Given the description of an element on the screen output the (x, y) to click on. 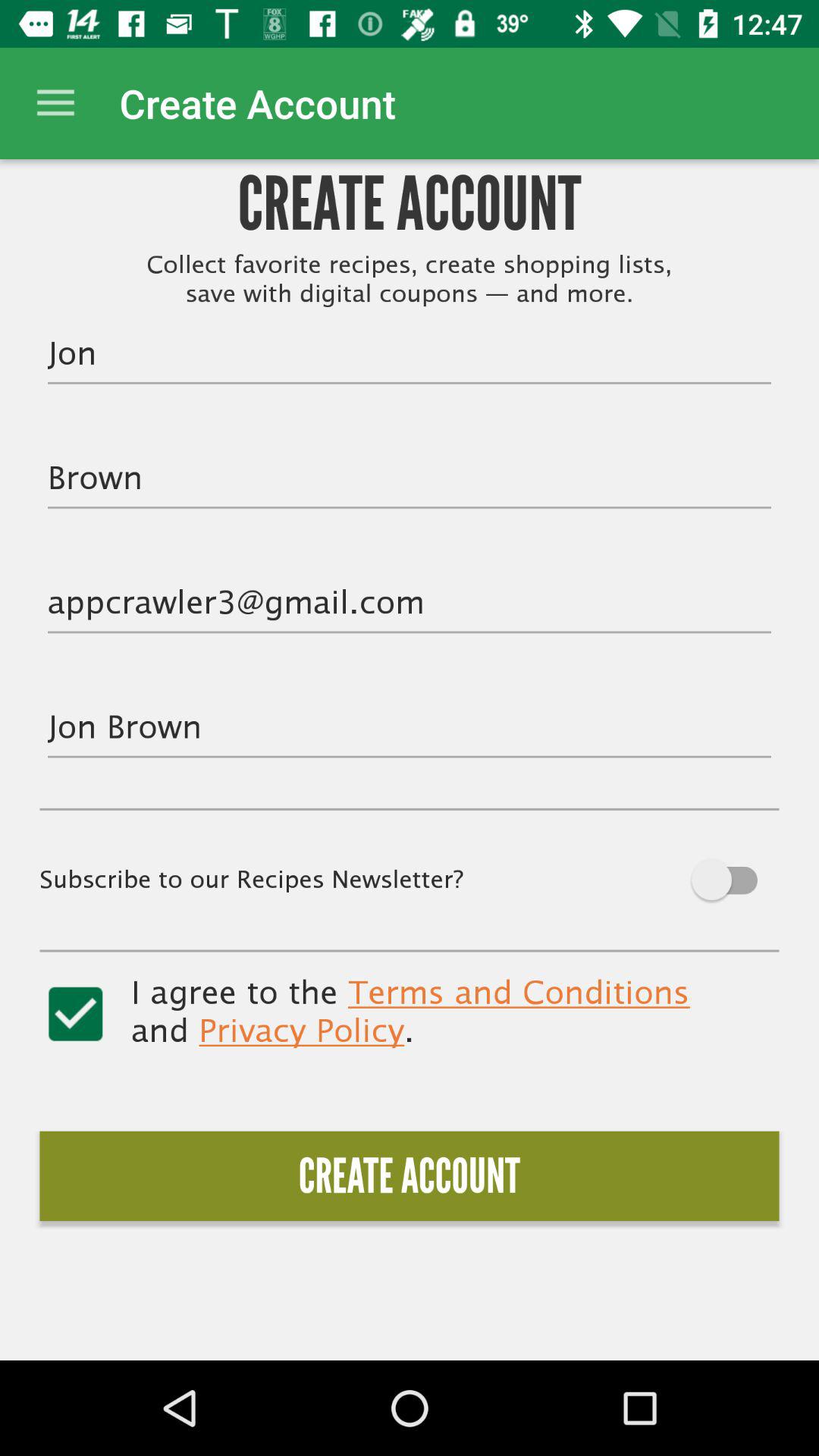
subscribe to newsletter (699, 879)
